Given the description of an element on the screen output the (x, y) to click on. 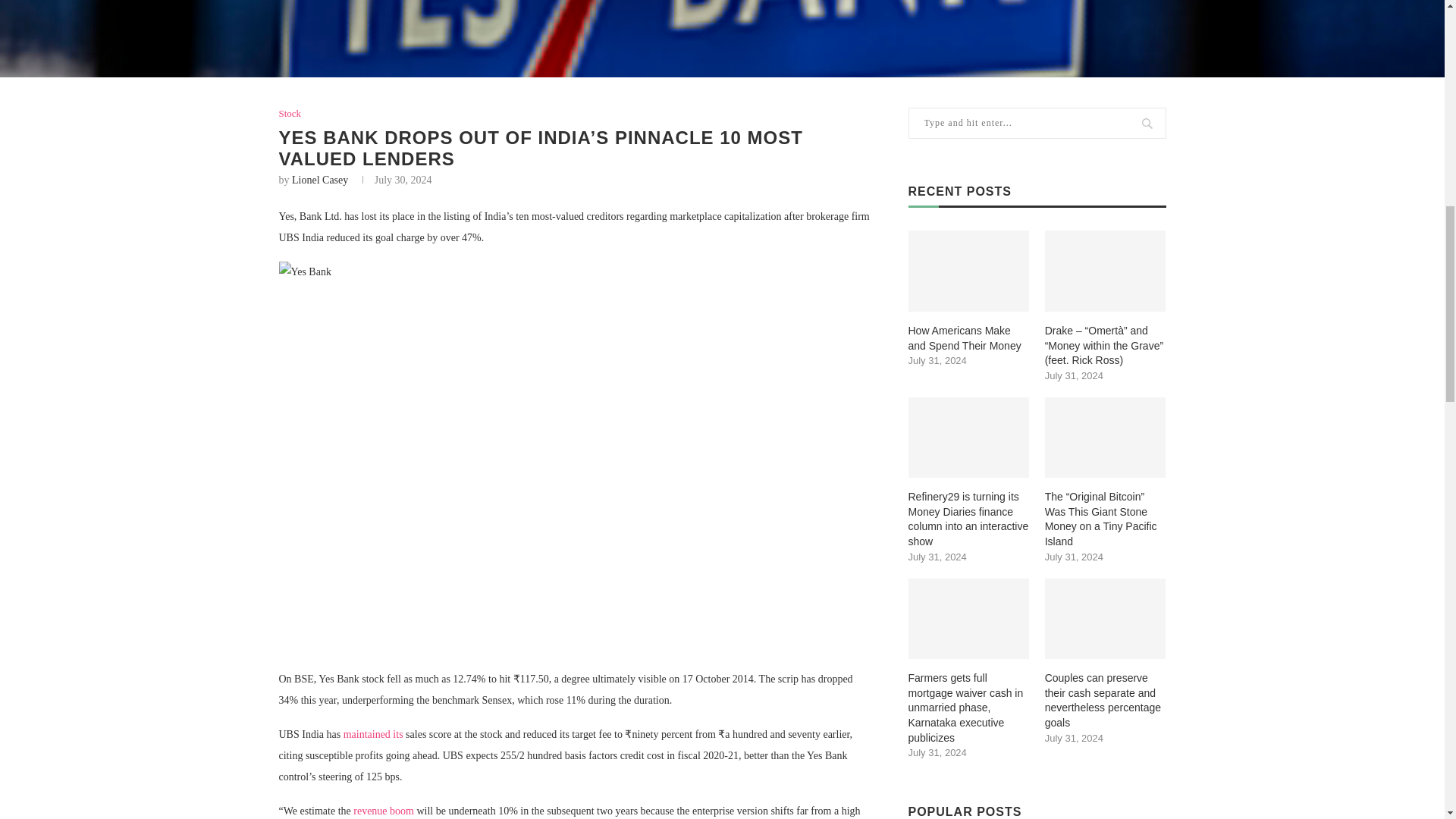
How Americans Make and Spend Their Money (968, 271)
How Americans Make and Spend Their Money (968, 337)
